Given the description of an element on the screen output the (x, y) to click on. 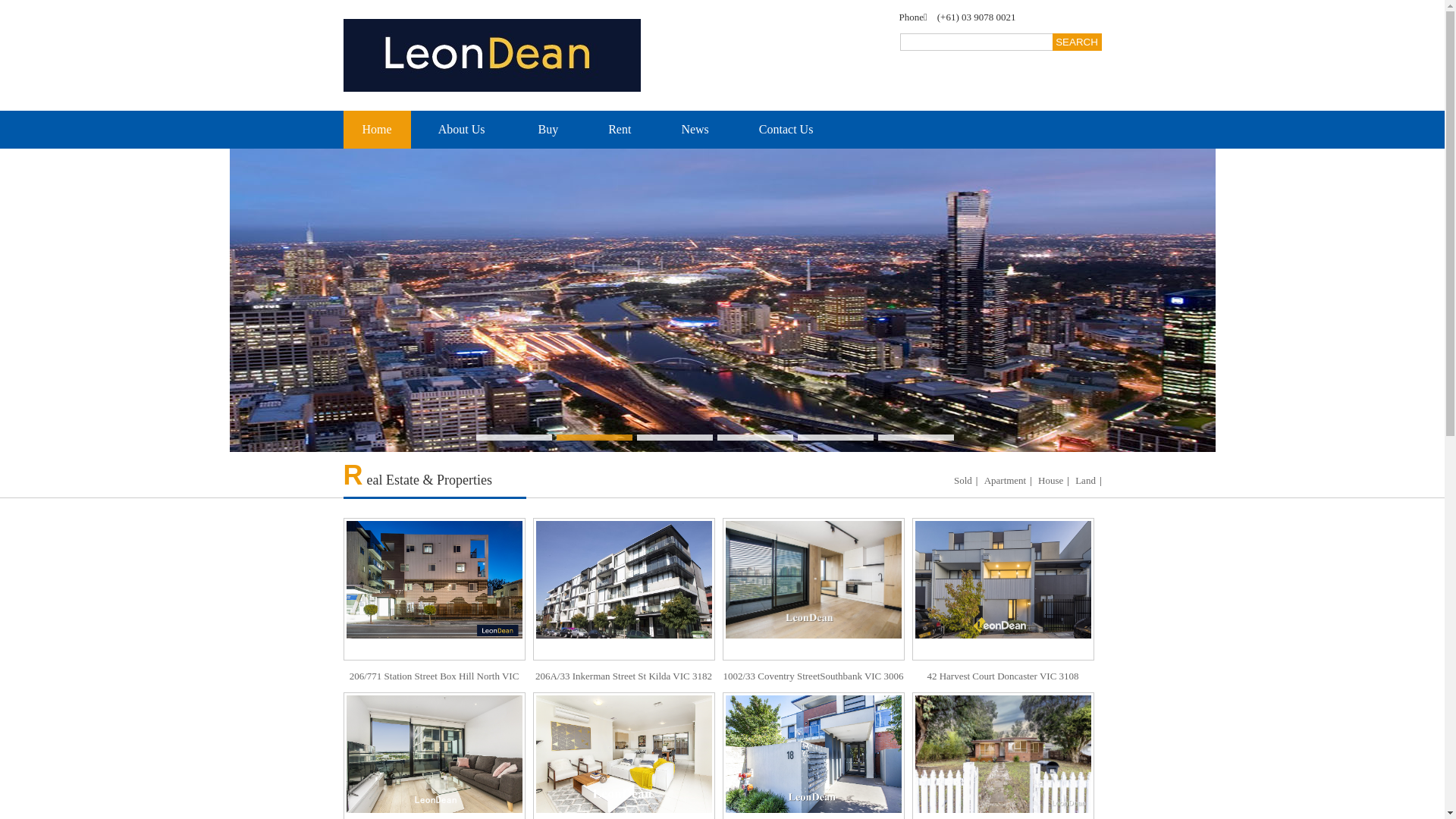
5 Element type: text (835, 437)
6 Element type: text (915, 437)
Land Element type: text (1085, 480)
  News   Element type: text (694, 129)
Apartment Element type: text (1005, 480)
Home Element type: text (376, 129)
House Element type: text (1050, 480)
2 Element type: text (594, 437)
  Buy   Element type: text (548, 129)
4 Element type: text (755, 437)
Sold Element type: text (962, 480)
1 Element type: text (514, 437)
SEARCH Element type: text (1076, 41)
1002/33 Coventry StreetSouthbank VIC 3006 Element type: text (812, 604)
  Rent   Element type: text (619, 129)
  Contact Us   Element type: text (786, 129)
   About Us    Element type: text (462, 129)
3 Element type: text (674, 437)
206/771 Station Street Box Hill North VIC 3129 Element type: text (433, 620)
42 Harvest Court Doncaster VIC 3108 Element type: text (1002, 604)
